Given the description of an element on the screen output the (x, y) to click on. 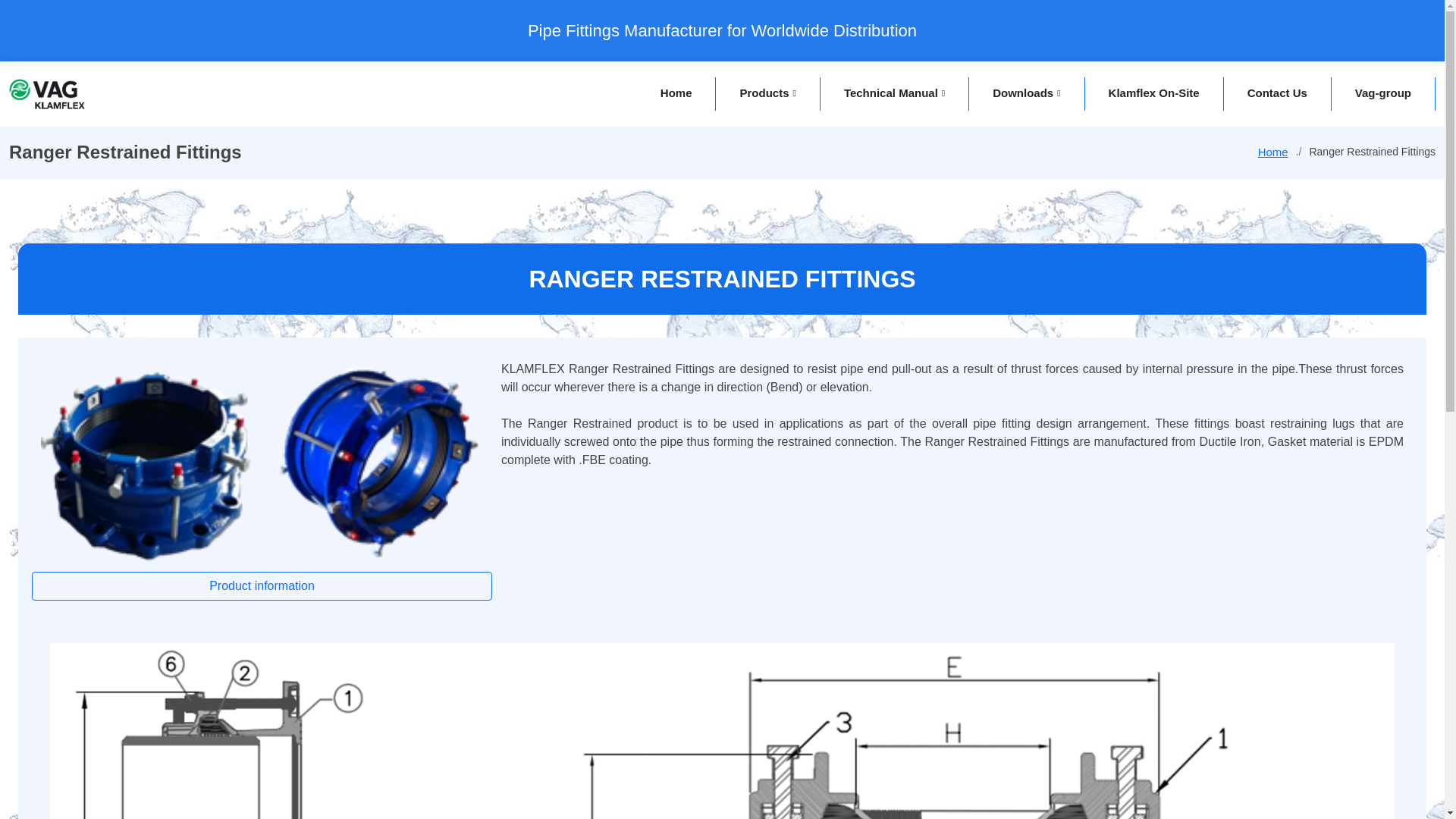
Downloads (1026, 94)
Products (766, 94)
Home (676, 94)
Technical Manual (894, 94)
